Given the description of an element on the screen output the (x, y) to click on. 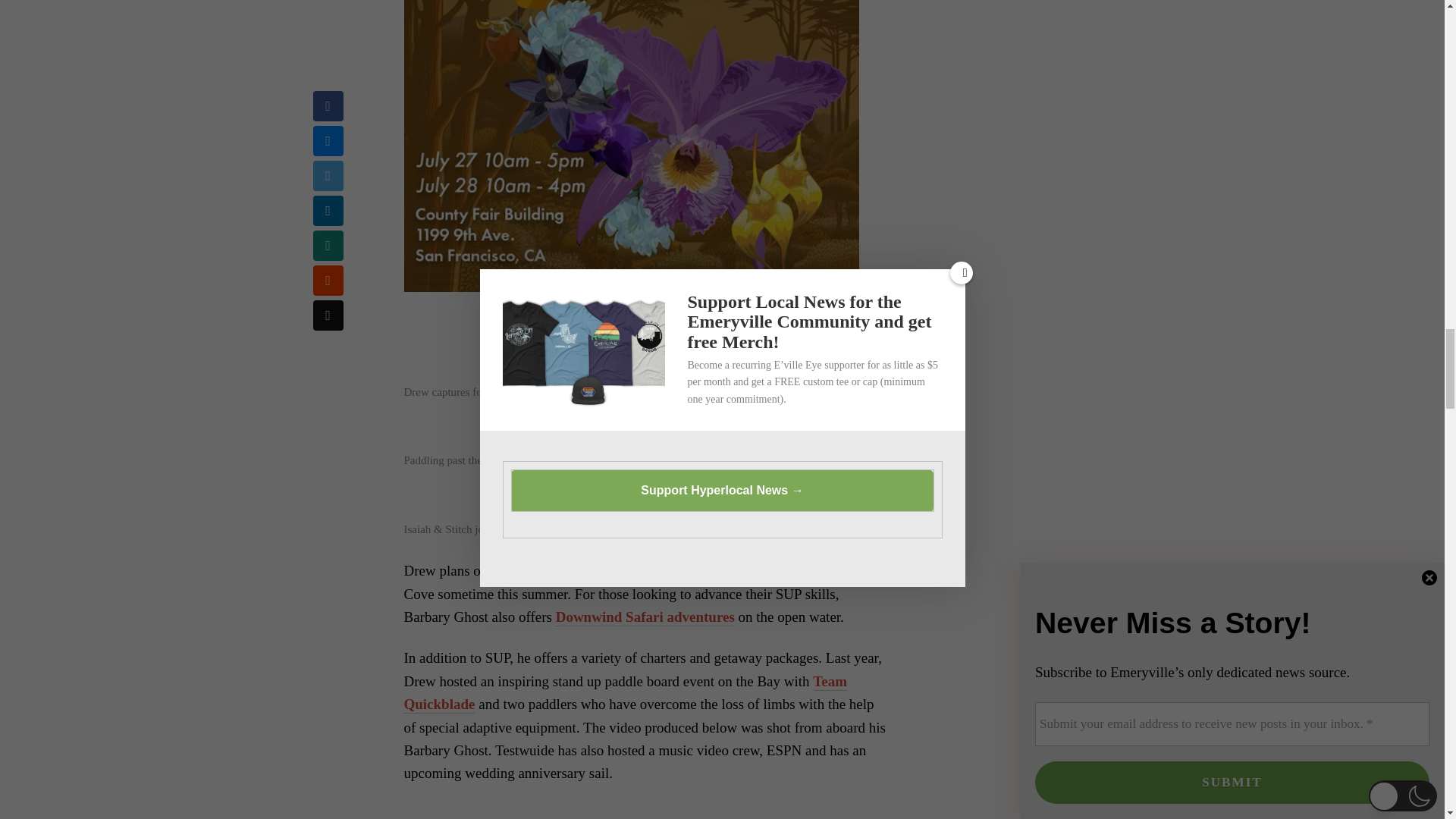
Downwinding San Francisco with Tom Nadzam and Jonas Letieri (645, 811)
SFOS - Summer Sale 2024 - In-Story (631, 145)
